Given the description of an element on the screen output the (x, y) to click on. 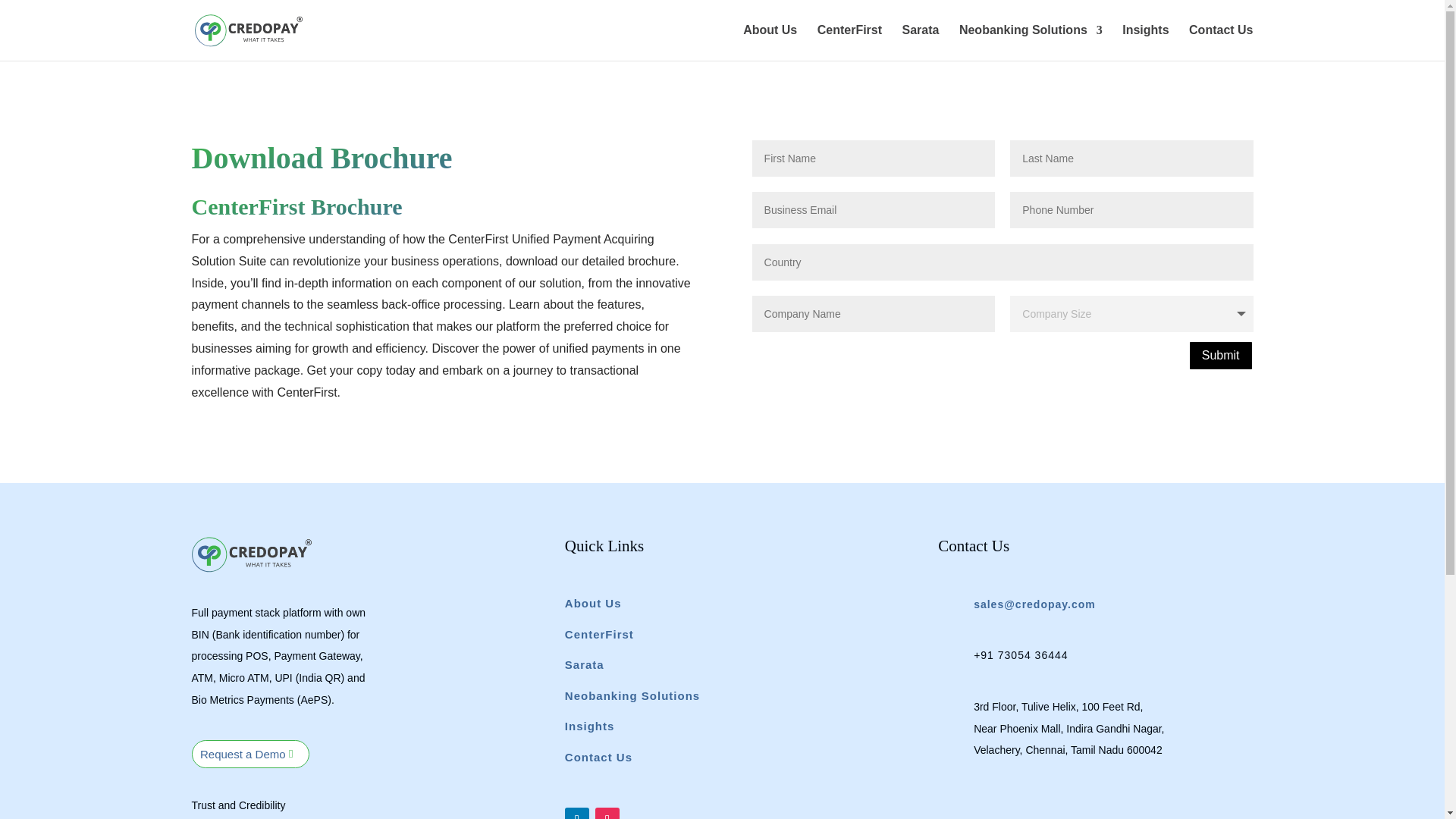
Insights (589, 726)
Insights (1145, 42)
Neobanking Solutions (632, 695)
About Us (769, 42)
Follow on LinkedIn (576, 813)
Follow on Instagram (607, 813)
Submit (1220, 355)
Neobanking Solutions (1030, 42)
Contact Us (1220, 42)
CenterFirst (849, 42)
Contact Us (597, 757)
Sarata (920, 42)
Sarata (584, 664)
CenterFirst (598, 634)
Request a Demo (249, 754)
